Given the description of an element on the screen output the (x, y) to click on. 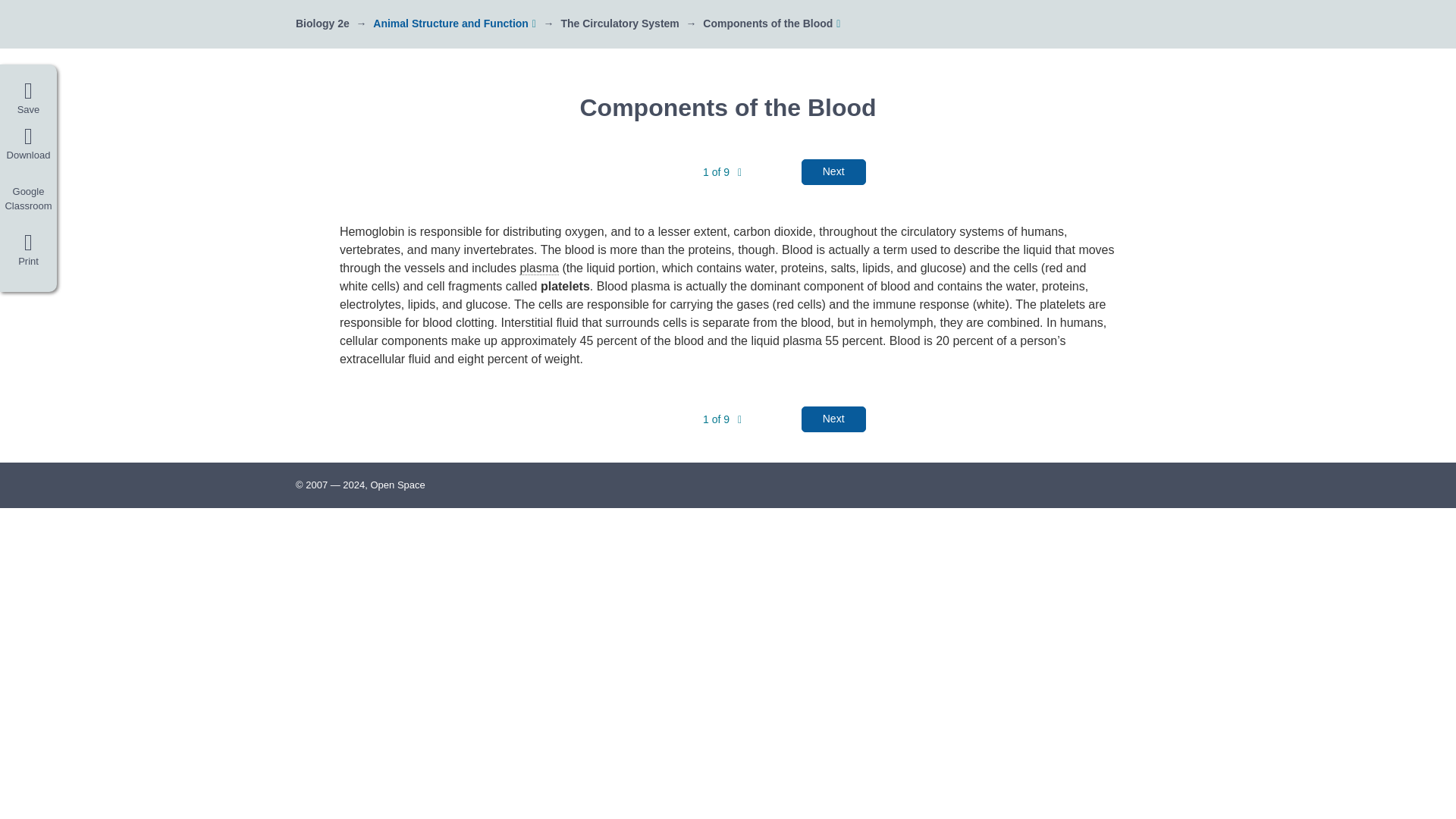
Animal Structure and Function (450, 23)
Next (834, 171)
Download (28, 144)
Download (28, 144)
Save (28, 98)
1 of 9 (722, 172)
Print (28, 253)
